Given the description of an element on the screen output the (x, y) to click on. 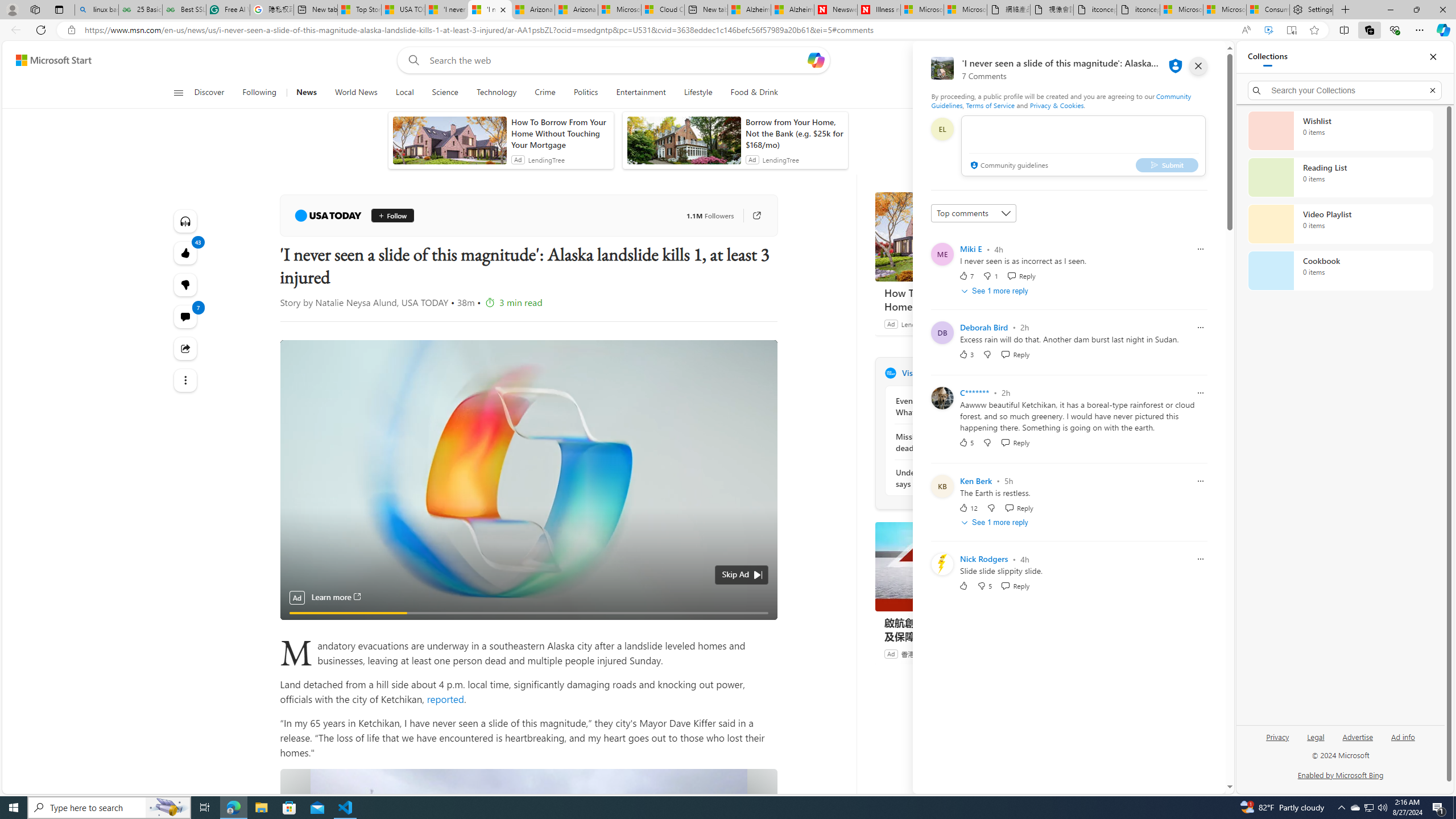
Captions (716, 606)
Unmute (759, 606)
3 Like (965, 354)
C******* (974, 392)
Terms of Service (989, 104)
Illness news & latest pictures from Newsweek.com (879, 9)
43 Like (184, 252)
7 Like (965, 275)
Cookbook collection, 0 items (1339, 270)
